Given the description of an element on the screen output the (x, y) to click on. 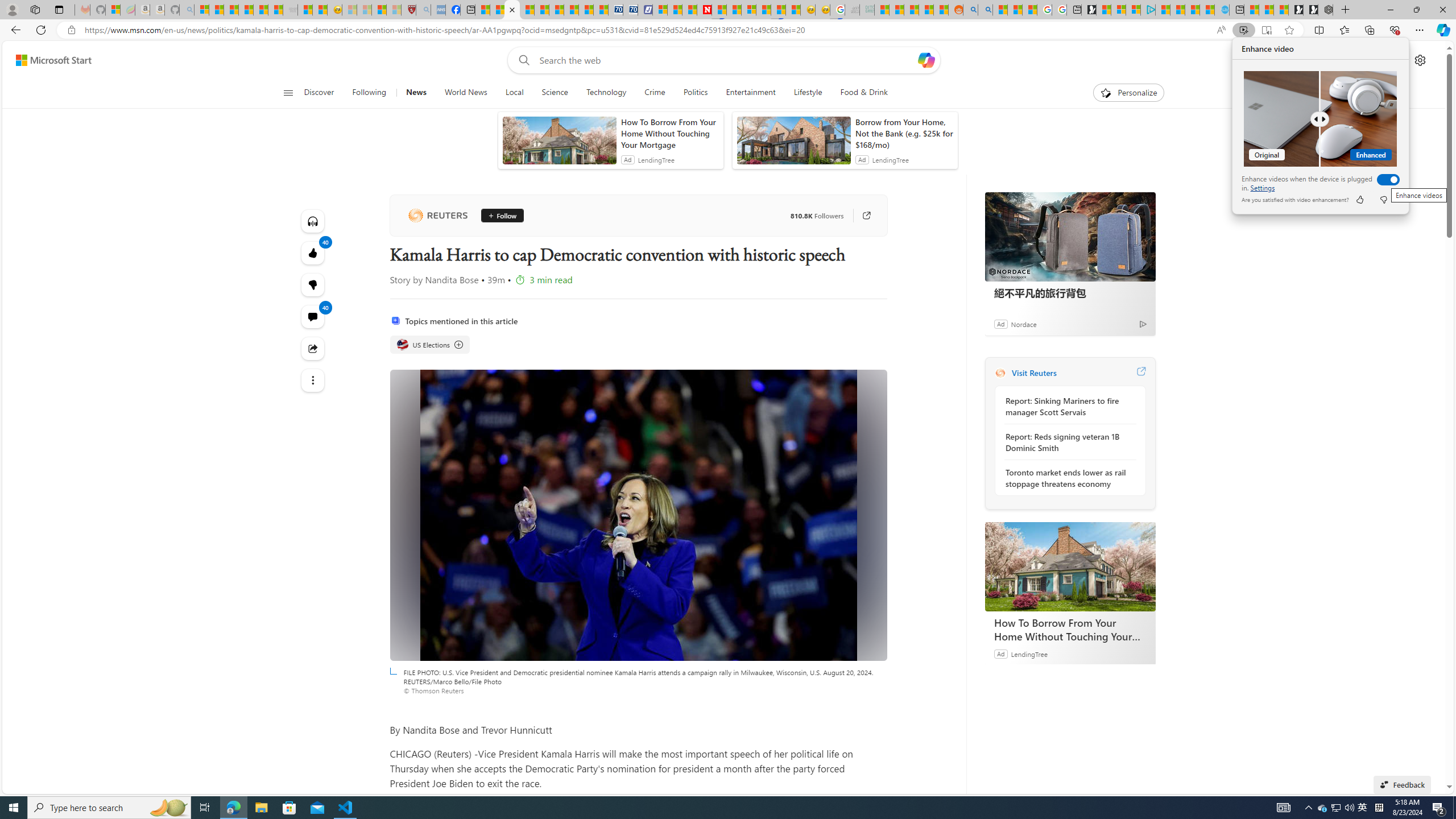
Entertainment (750, 92)
Local (1335, 807)
NCL Adult Asthma Inhaler Choice Guideline - Sleeping (514, 92)
Navy Quest (437, 9)
Report: Reds signing veteran 1B Dominic Smith (852, 9)
Tab actions menu (1066, 441)
Microsoft Edge - 1 running window (58, 9)
Dislike (233, 807)
Nordace - Nordace Siena Is Not An Ordinary Backpack (1383, 199)
Task View (1325, 9)
